Given the description of an element on the screen output the (x, y) to click on. 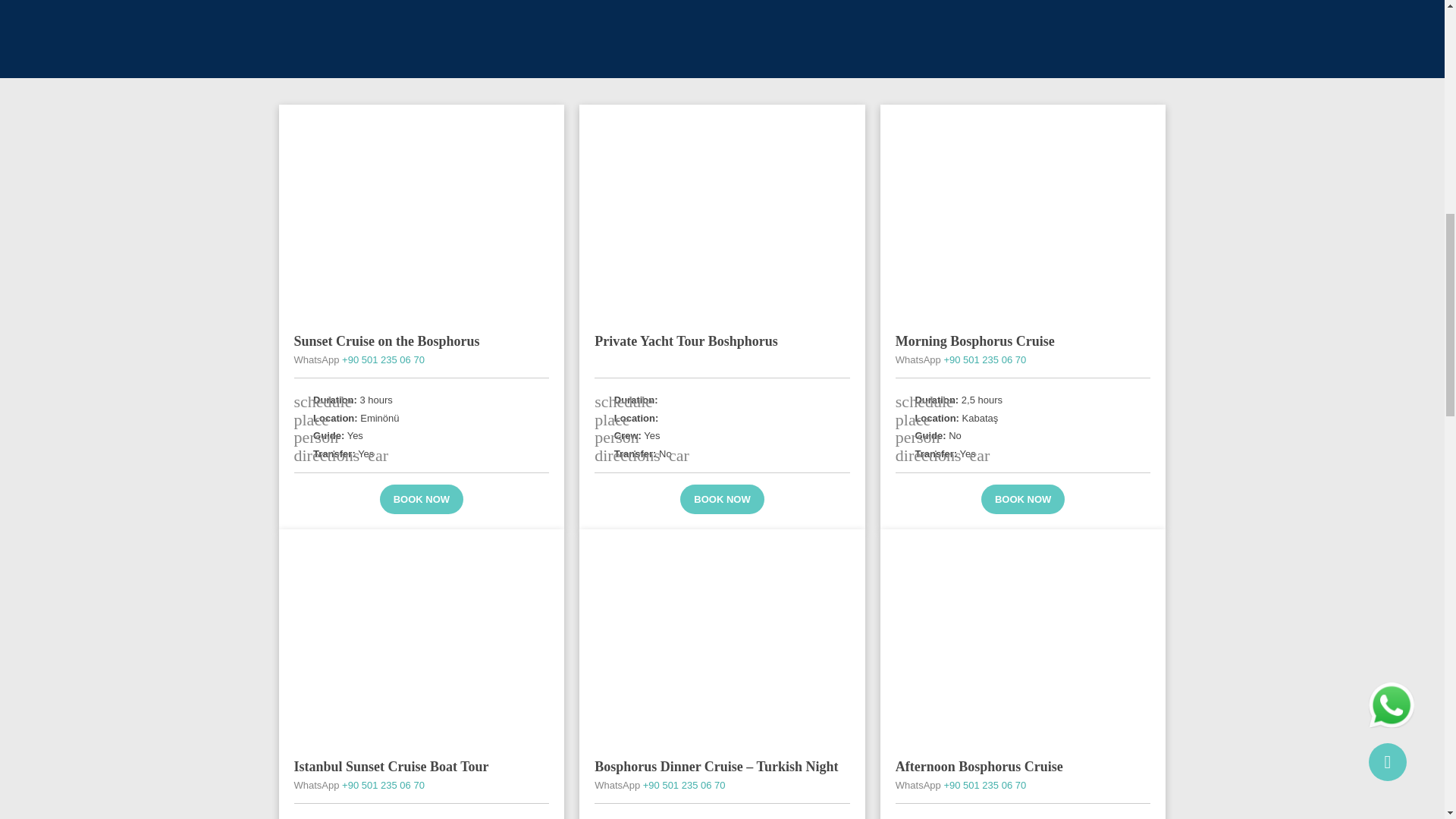
Book now (421, 499)
Sunset Cruise on the Bosphorus (387, 340)
BOOK NOW (421, 499)
BOOK NOW (1022, 499)
Afternoon Bosphorus Cruise (978, 766)
Morning Bosphorus Cruise (974, 340)
Istanbul Sunset Cruise Boat Tour (391, 766)
Private Yacht Tour Boshphorus (685, 340)
Morning Bosphorus Cruise (1023, 211)
Private Yacht Tour Boshphorus (721, 211)
Private Yacht Tour Boshphorus (685, 340)
Istanbul Sunset Cruise Boat Tour (391, 766)
Morning Bosphorus Cruise (974, 340)
Sunset Cruise on the Bosphorus (421, 211)
Book now (1022, 499)
